Given the description of an element on the screen output the (x, y) to click on. 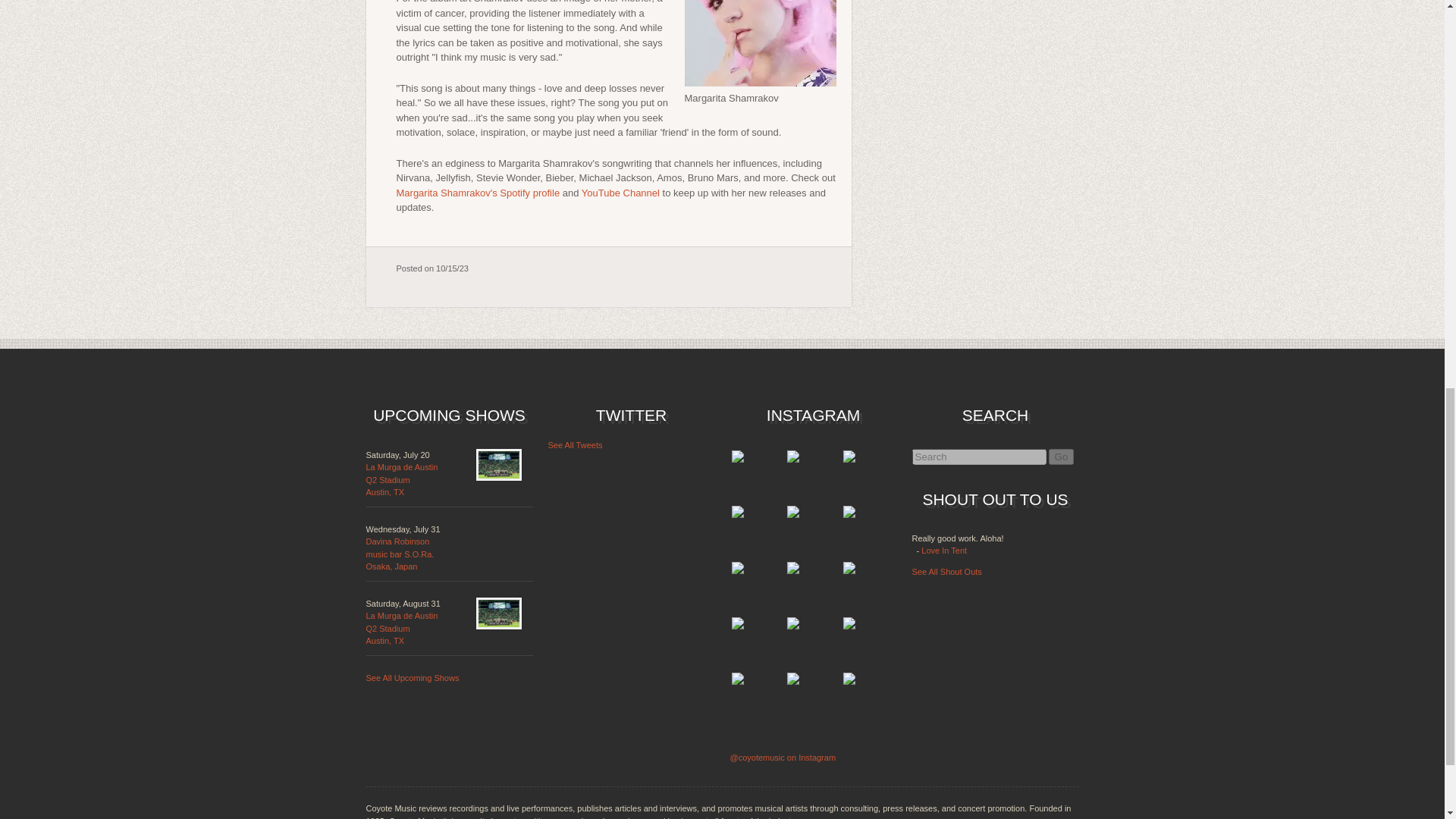
See All Shout Outs (946, 571)
YouTube Channel (619, 193)
See All Tweets (574, 444)
Love In Tent (943, 550)
See All Upcoming Shows (401, 627)
Go (399, 553)
Margarita Shamrakov's Spotify profile (401, 479)
